Given the description of an element on the screen output the (x, y) to click on. 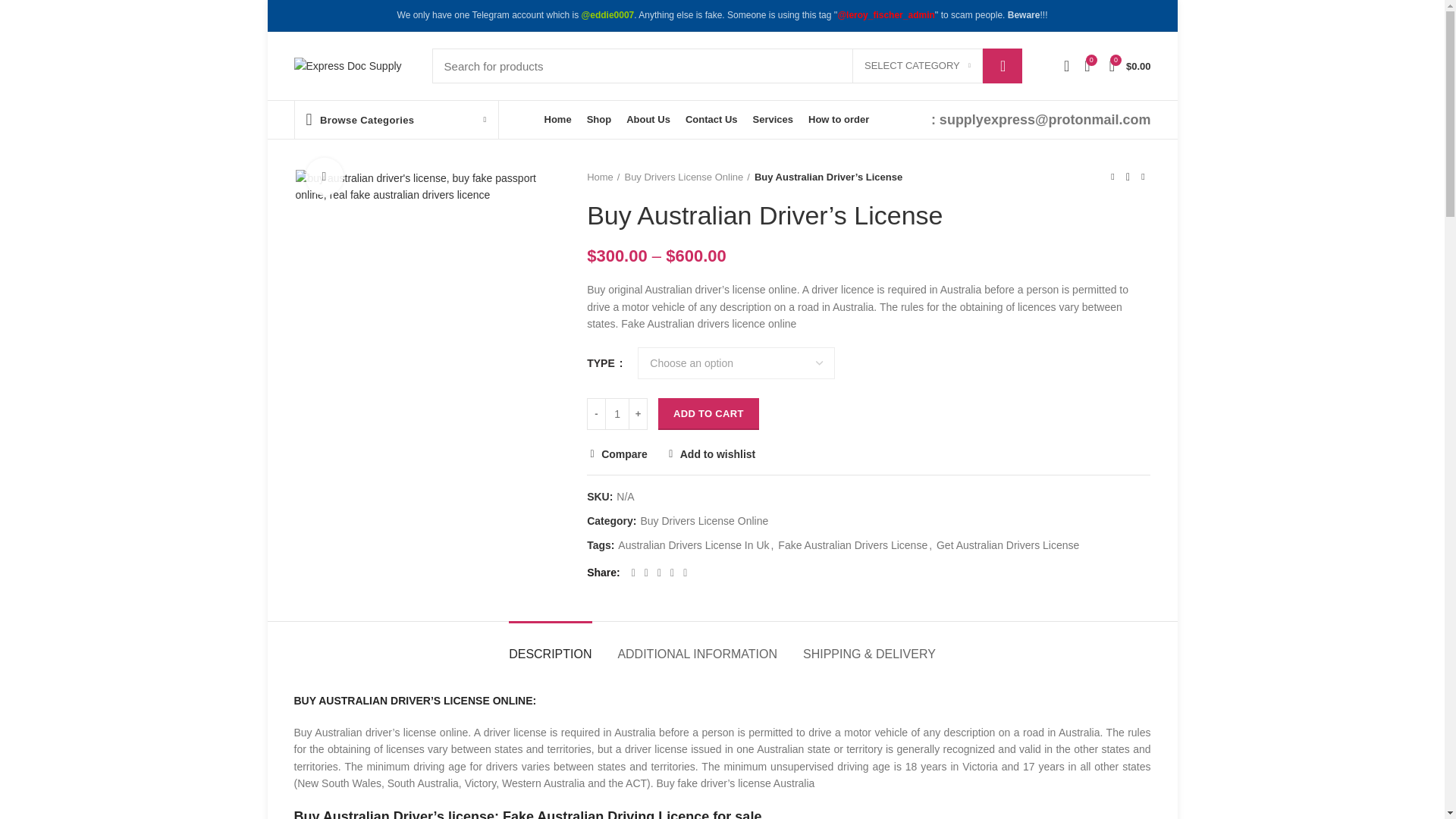
Buy Drivers License Online (686, 177)
Previous product (1112, 177)
- (595, 413)
Shop (599, 119)
Contact Us (711, 119)
SELECT CATEGORY (916, 65)
Search for products (727, 65)
1 (616, 413)
My Wishlist (1067, 65)
Services (773, 119)
0 (1087, 65)
buy australian driver's license (429, 186)
Home (603, 177)
Compare products (1087, 65)
Home (558, 119)
